Given the description of an element on the screen output the (x, y) to click on. 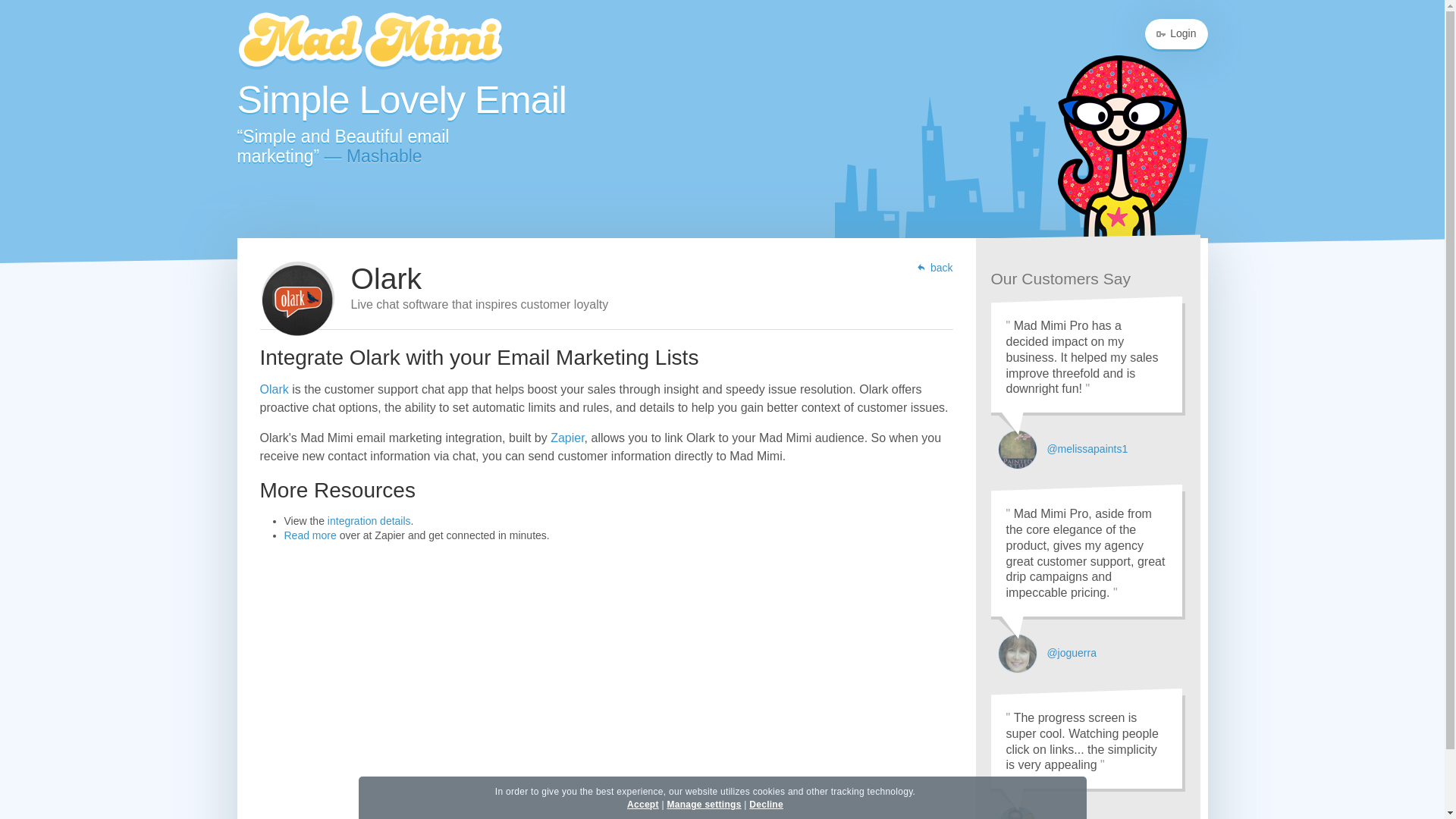
integration details (368, 521)
back (933, 268)
Mad Mimi Home (368, 41)
Zapier (566, 437)
Olark (273, 389)
Read more (309, 535)
Login (1176, 33)
Decline (766, 804)
Mad Mimi (368, 41)
Manage settings (703, 804)
